Given the description of an element on the screen output the (x, y) to click on. 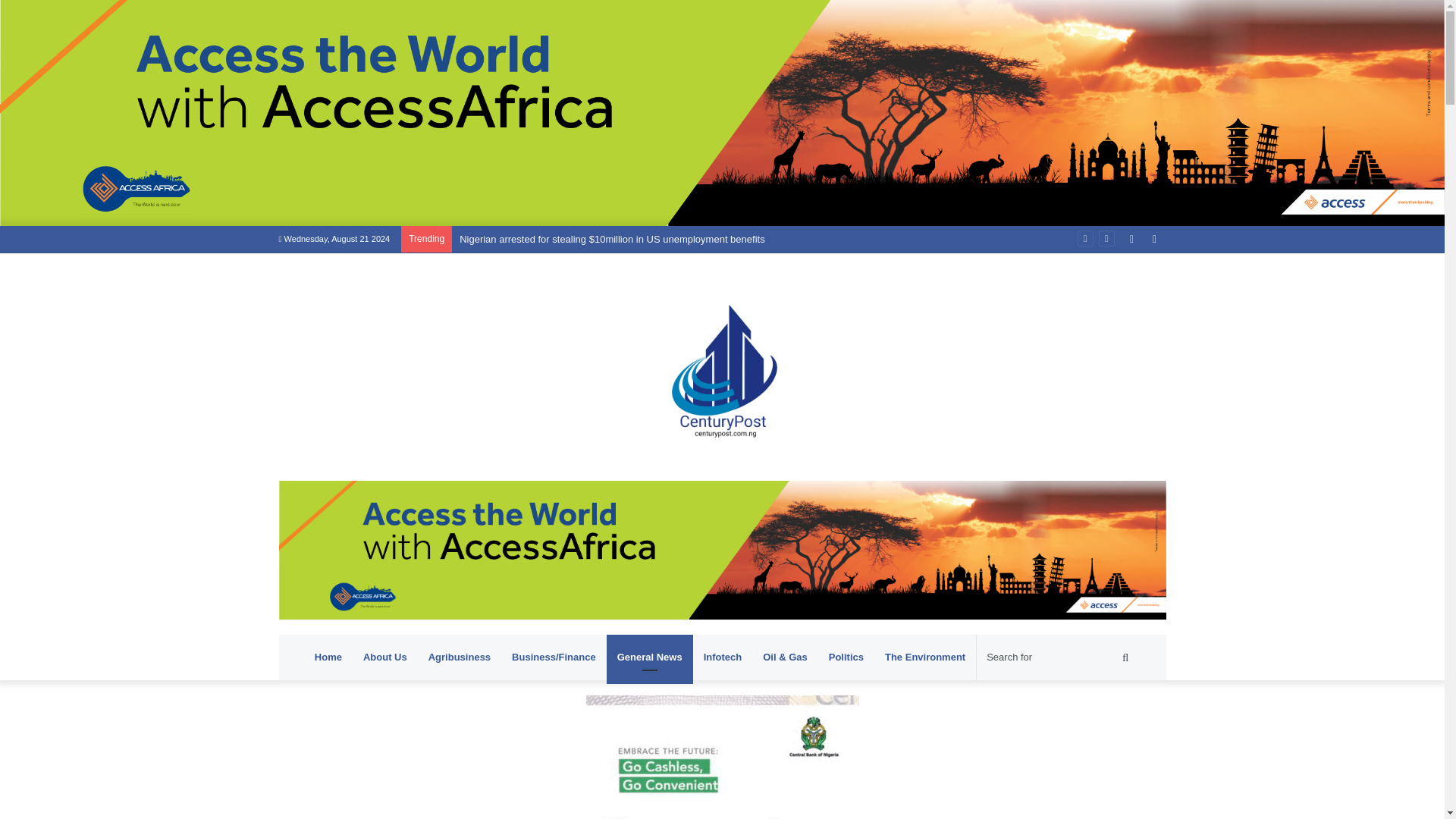
Accessbank Ad (722, 549)
Search for (1058, 657)
The Environment (925, 657)
About Us (384, 657)
Infotech (722, 657)
Home (328, 657)
General News (650, 657)
Century Post (722, 366)
Politics (846, 657)
Agribusiness (458, 657)
